Given the description of an element on the screen output the (x, y) to click on. 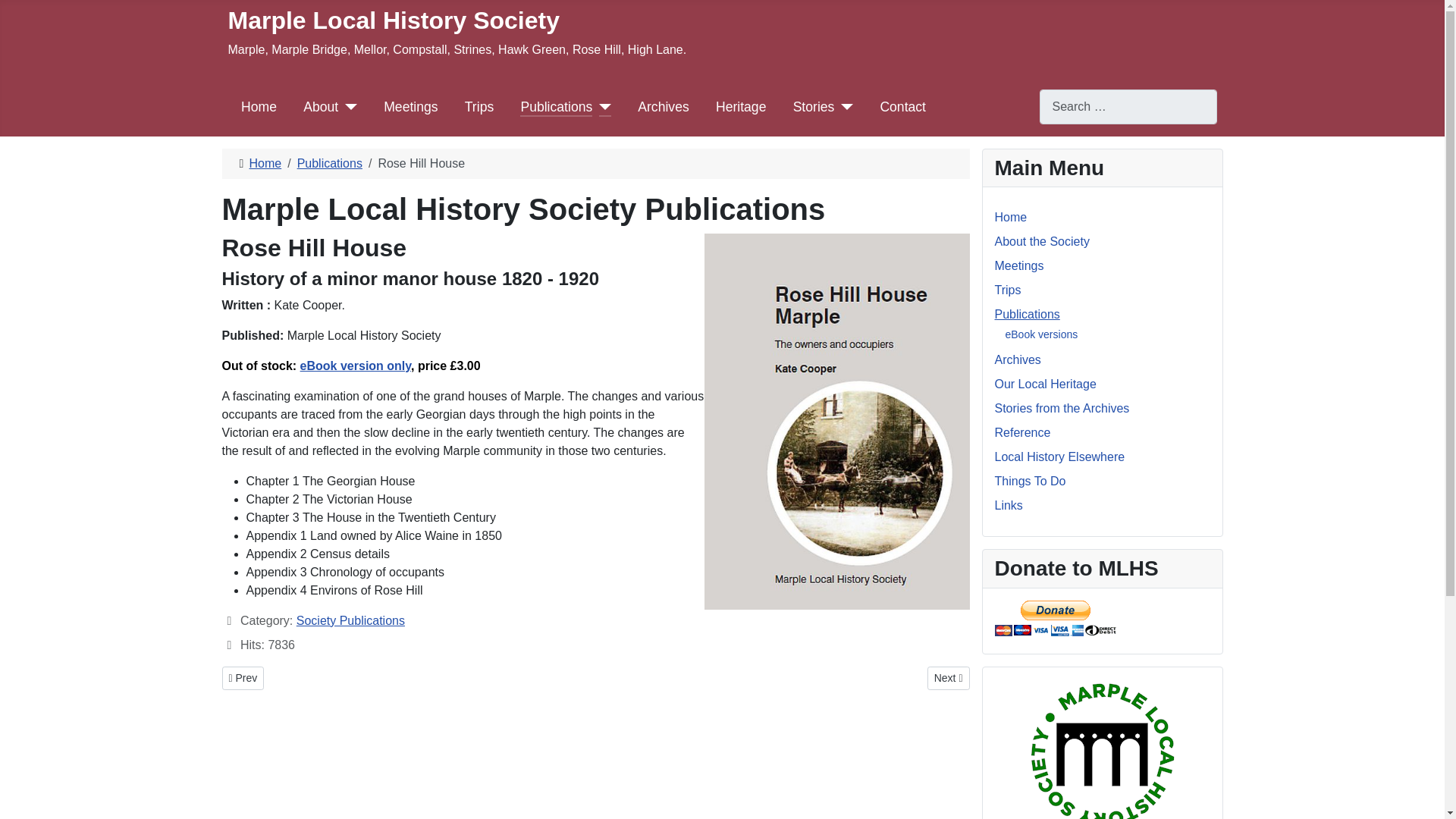
Publications (1026, 314)
Trips (1008, 289)
About (319, 107)
Publications (329, 163)
eBook version only (354, 365)
Meetings (411, 107)
Archives (1017, 359)
Home (264, 163)
Contact (902, 107)
Stories from the Archives (1061, 408)
Stories (813, 107)
eBook versions (1042, 334)
Archives (662, 107)
PayPal - The safer, easier way to pay online! (1055, 618)
